Given the description of an element on the screen output the (x, y) to click on. 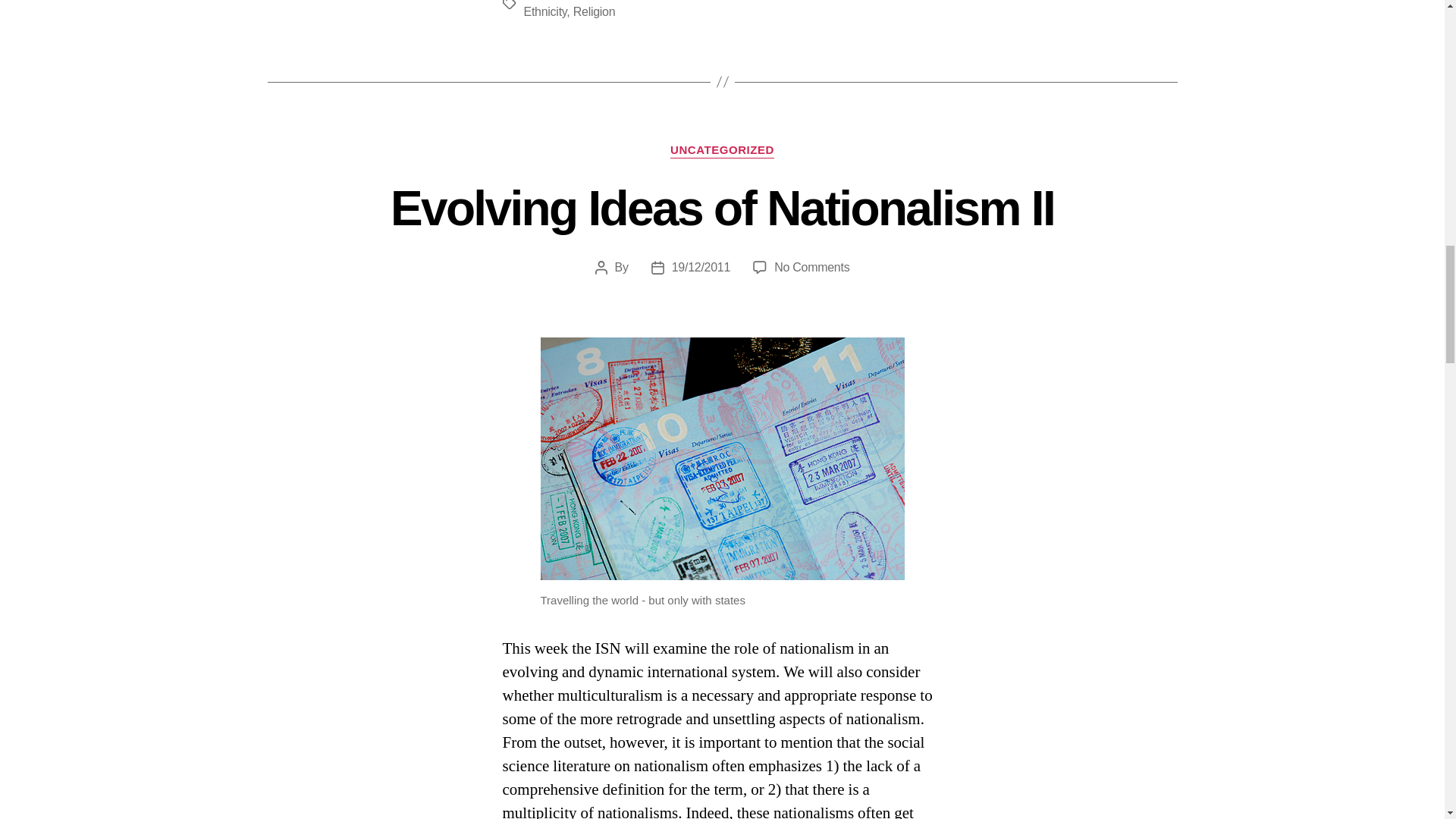
Evolving Ideas of Nationalism II (722, 207)
UNCATEGORIZED (721, 150)
Religion (594, 11)
Passport image (722, 458)
Ethnicity (544, 11)
